Given the description of an element on the screen output the (x, y) to click on. 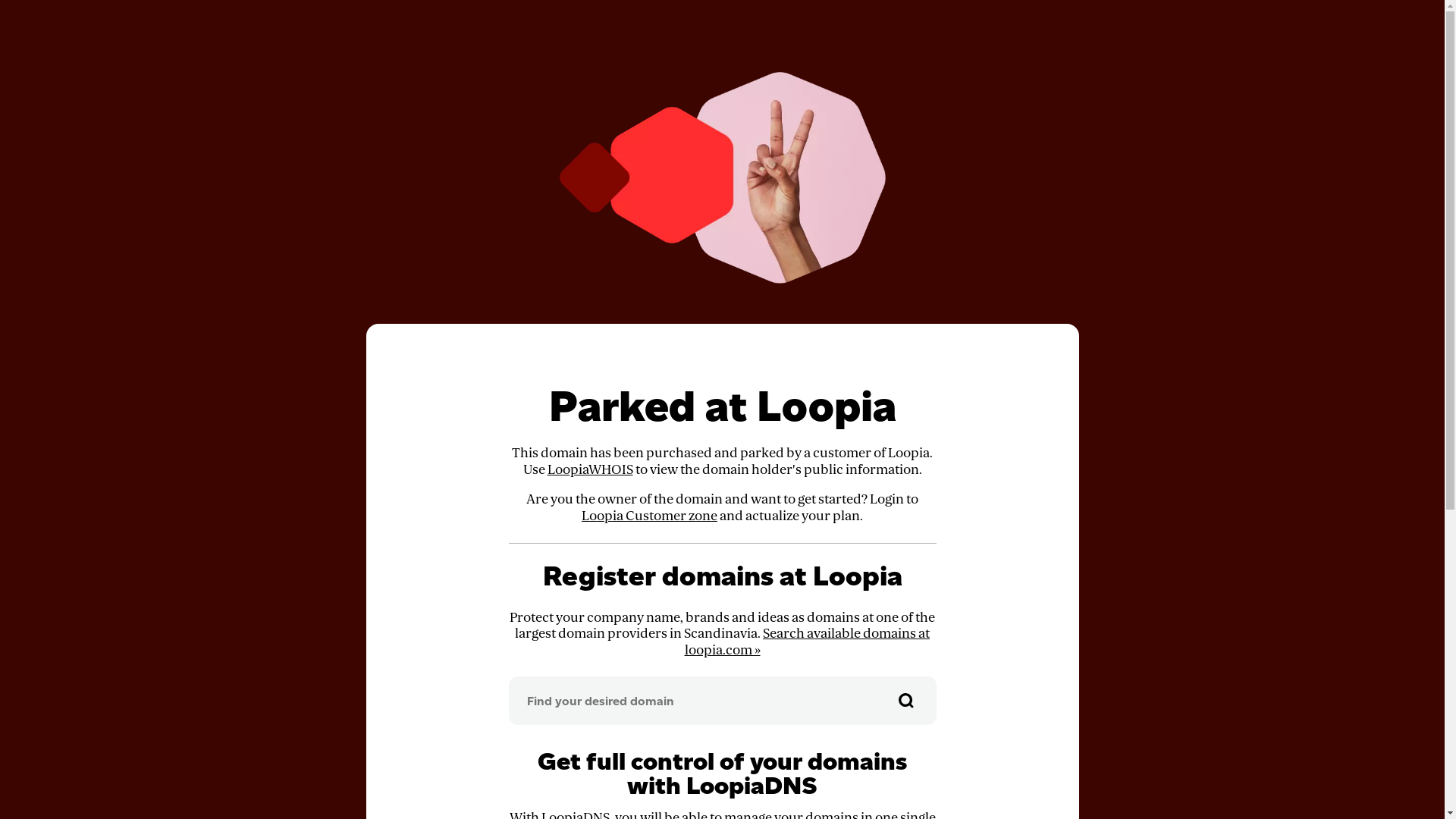
LoopiaWHOIS Element type: text (590, 469)
Loopia Customer zone Element type: text (649, 516)
